Given the description of an element on the screen output the (x, y) to click on. 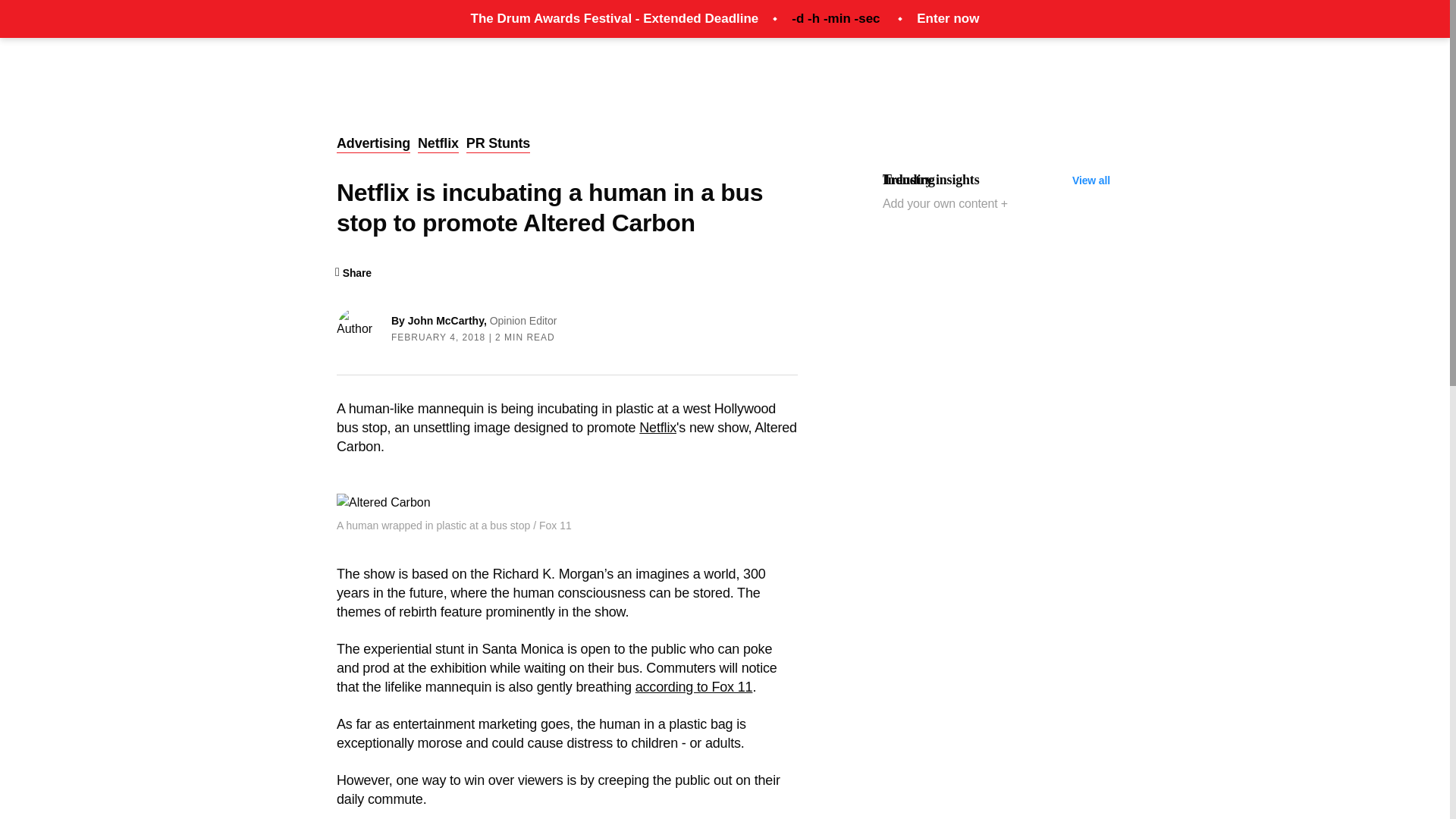
Advertising (373, 144)
Netflix (658, 427)
Share (353, 272)
View all (1090, 180)
Netflix (437, 144)
PR Stunts (497, 144)
John McCarthy, (448, 320)
Enter now (947, 18)
according to Fox 11 (693, 686)
Altered Carbon (383, 502)
